Given the description of an element on the screen output the (x, y) to click on. 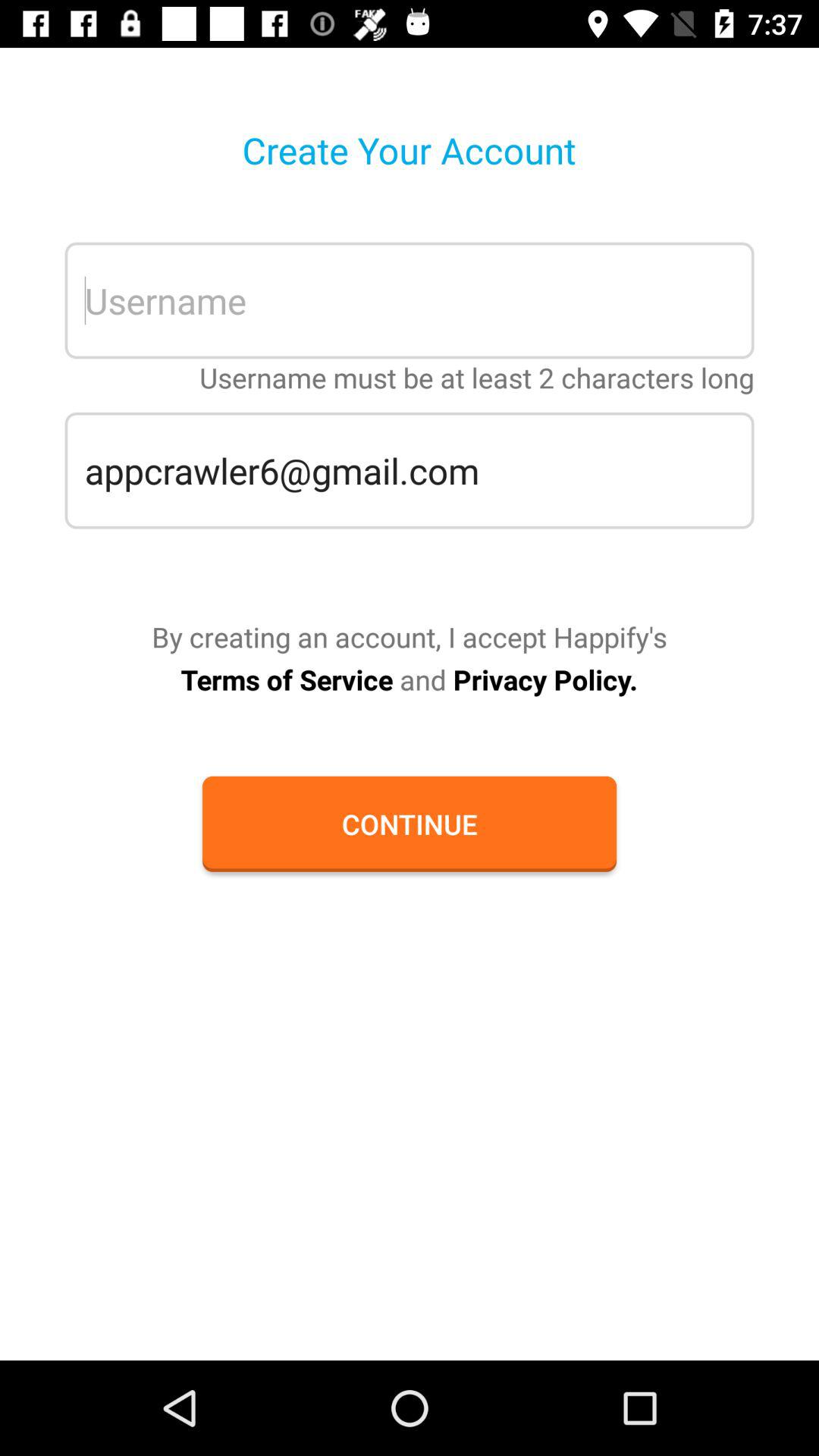
tap item below the by creating an (408, 679)
